Given the description of an element on the screen output the (x, y) to click on. 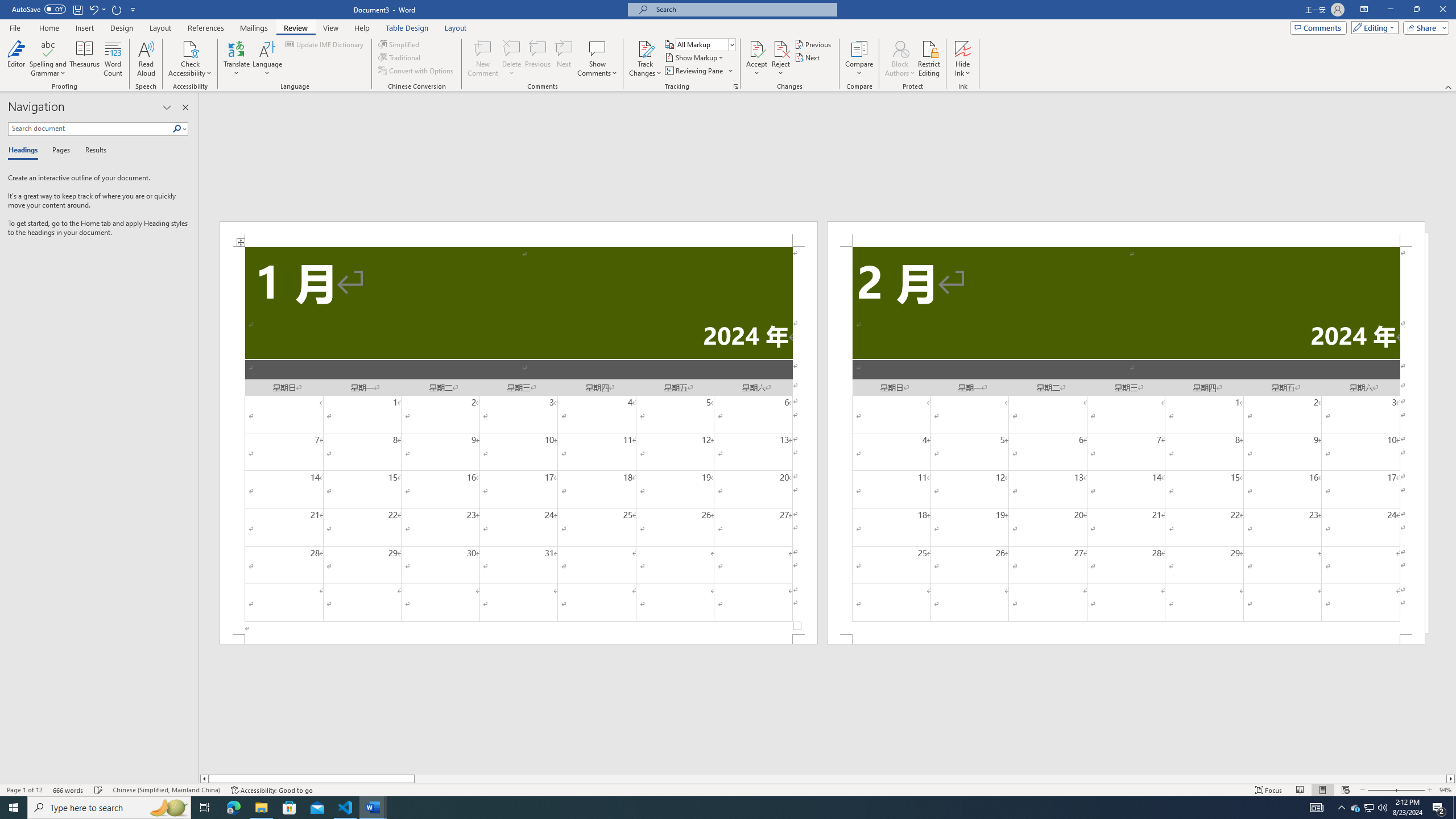
Reviewing Pane (694, 69)
Show Comments (597, 58)
Footer -Section 1- (518, 638)
Reject (780, 58)
Track Changes (644, 48)
Delete (511, 48)
